Given the description of an element on the screen output the (x, y) to click on. 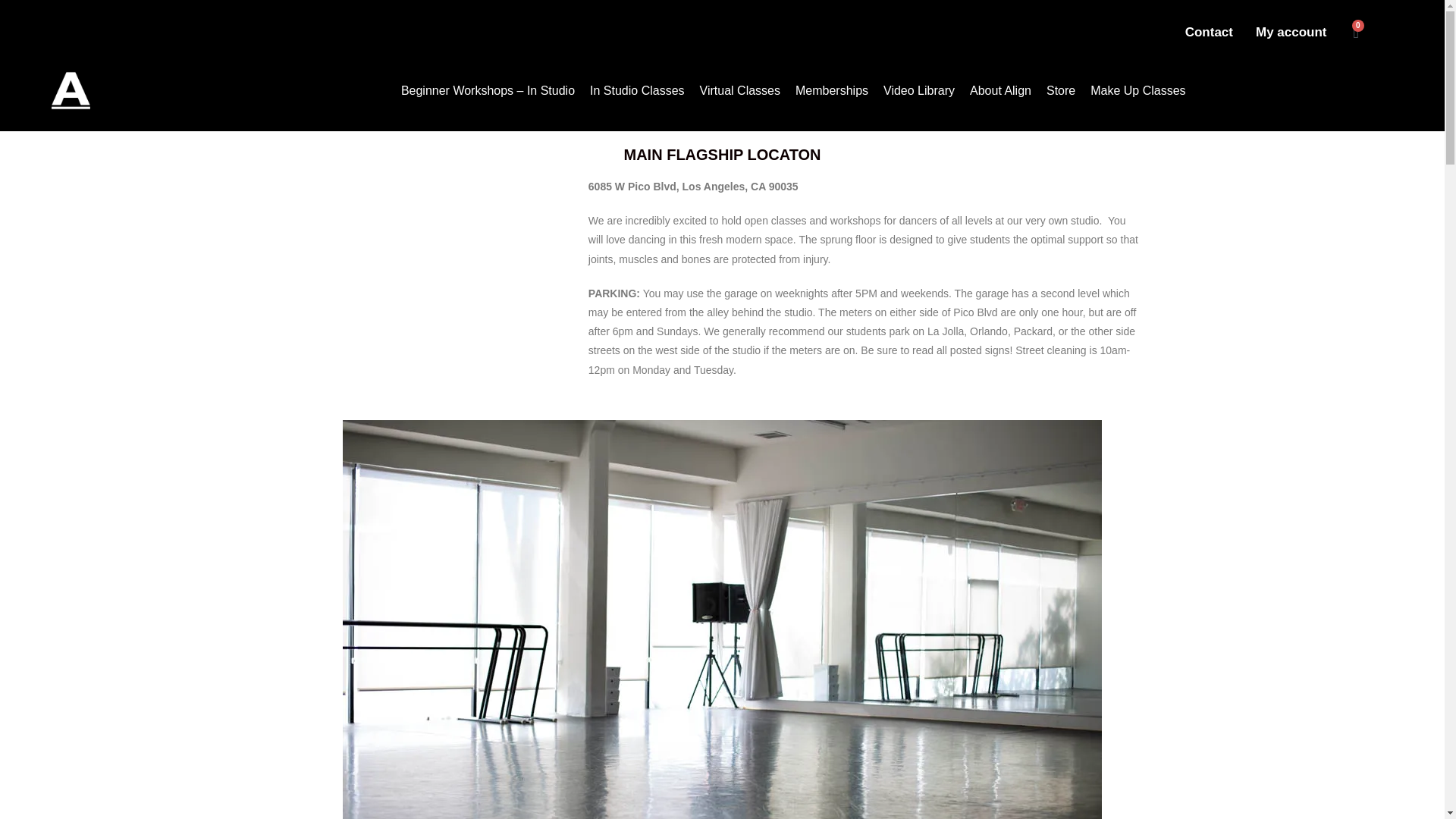
Video Library (919, 90)
6085 west pico los anagles california 90035 (438, 290)
Memberships (831, 90)
In Studio Classes (637, 90)
Contact (1208, 32)
Make Up Classes (1137, 90)
About Align (1000, 90)
0 (1356, 32)
Virtual Classes (740, 90)
My account (1291, 32)
